Given the description of an element on the screen output the (x, y) to click on. 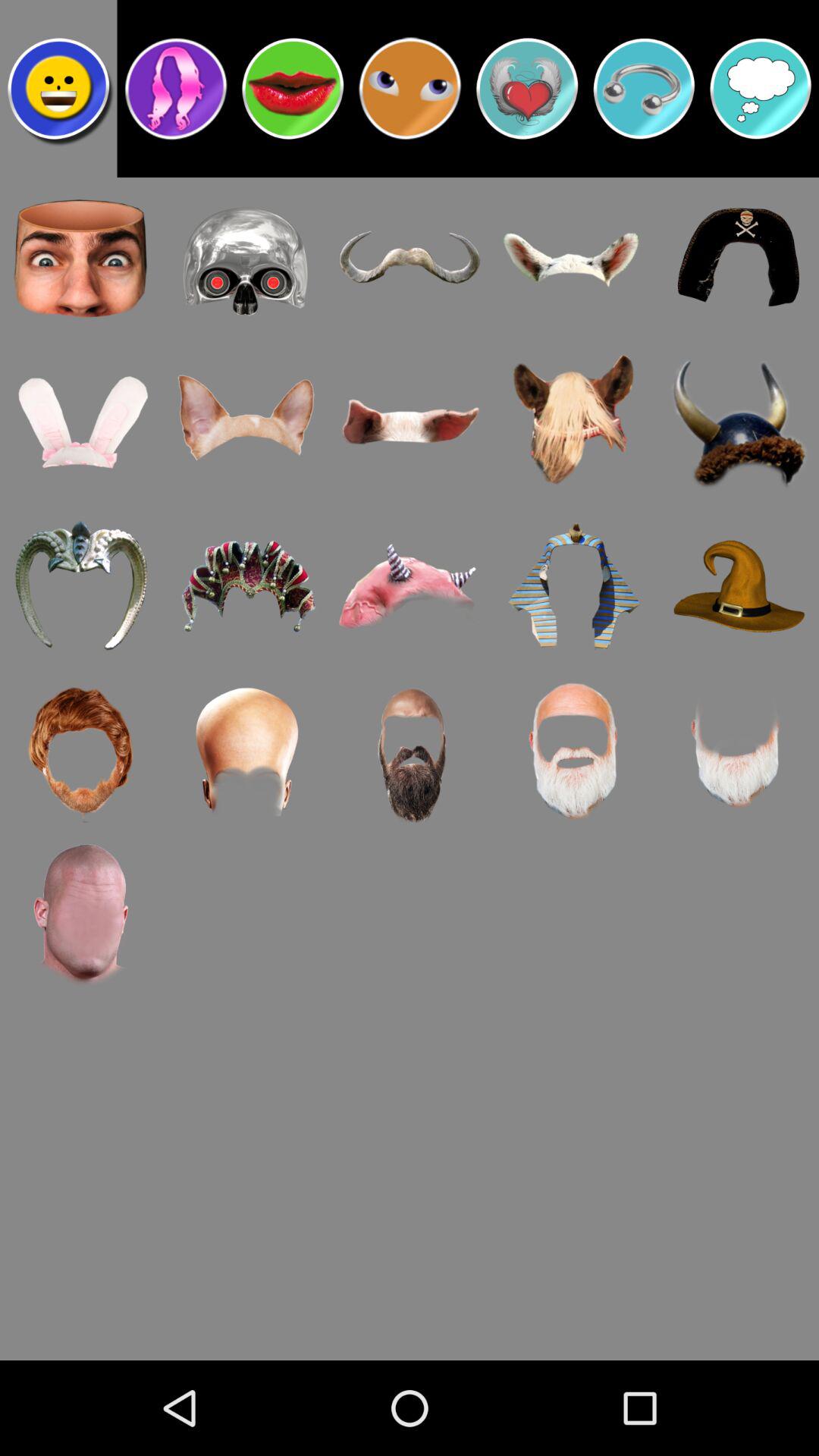
select facemarks tab (58, 88)
